Given the description of an element on the screen output the (x, y) to click on. 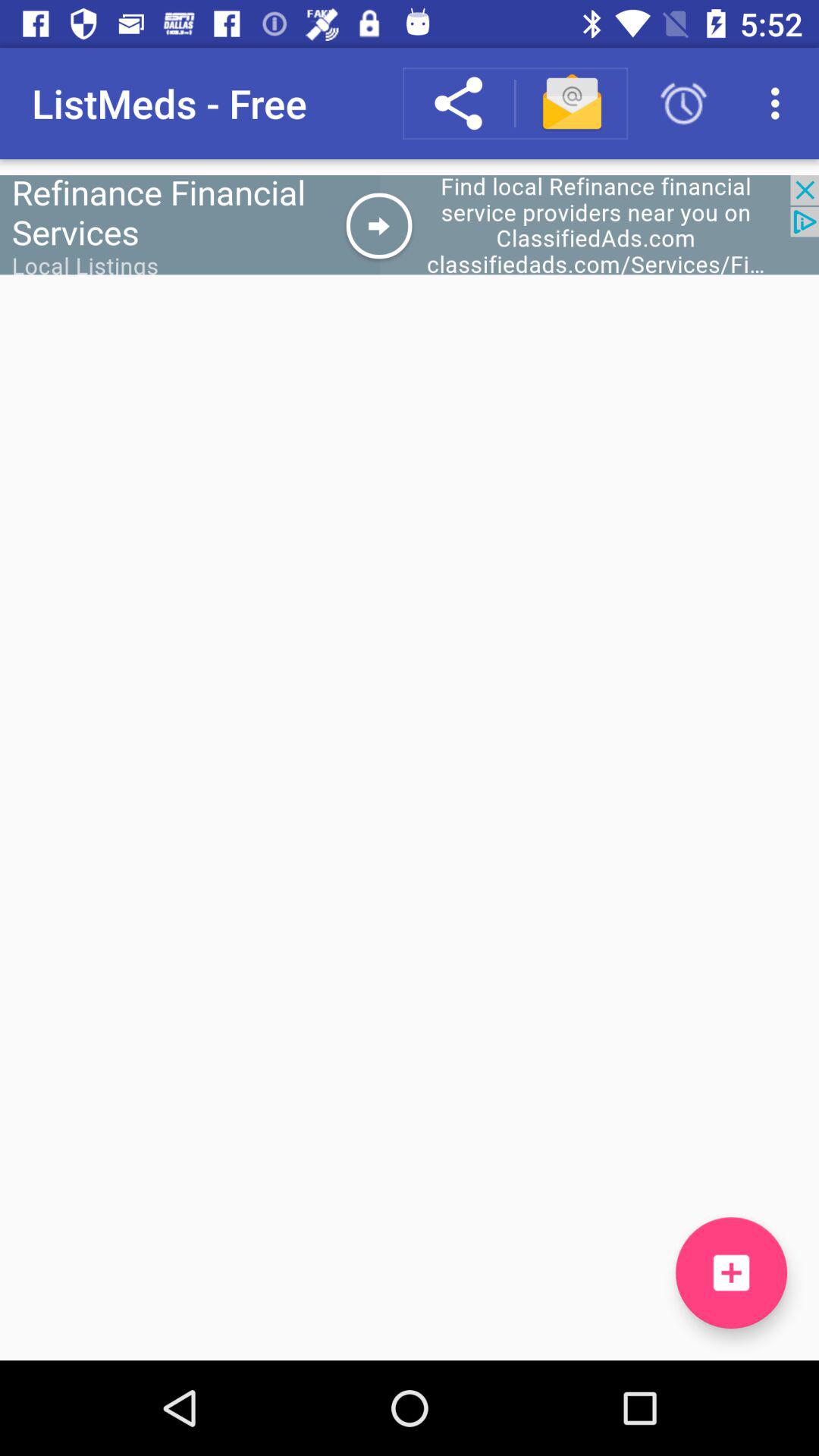
announcement (409, 224)
